Given the description of an element on the screen output the (x, y) to click on. 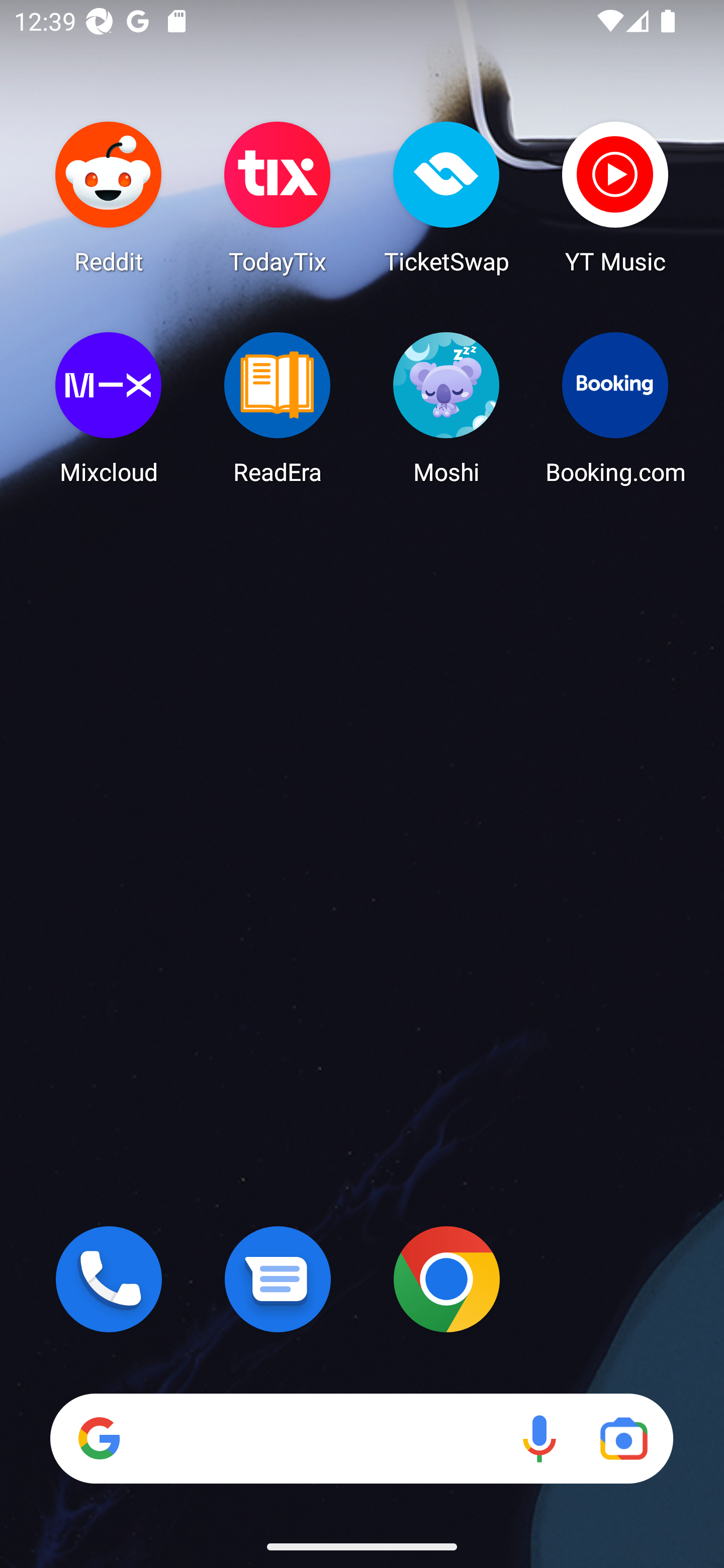
Reddit (108, 196)
TodayTix (277, 196)
TicketSwap (445, 196)
YT Music (615, 196)
Mixcloud (108, 407)
ReadEra (277, 407)
Moshi (445, 407)
Booking.com (615, 407)
Phone (108, 1279)
Messages (277, 1279)
Chrome (446, 1279)
Search Voice search Google Lens (361, 1438)
Voice search (539, 1438)
Google Lens (623, 1438)
